Given the description of an element on the screen output the (x, y) to click on. 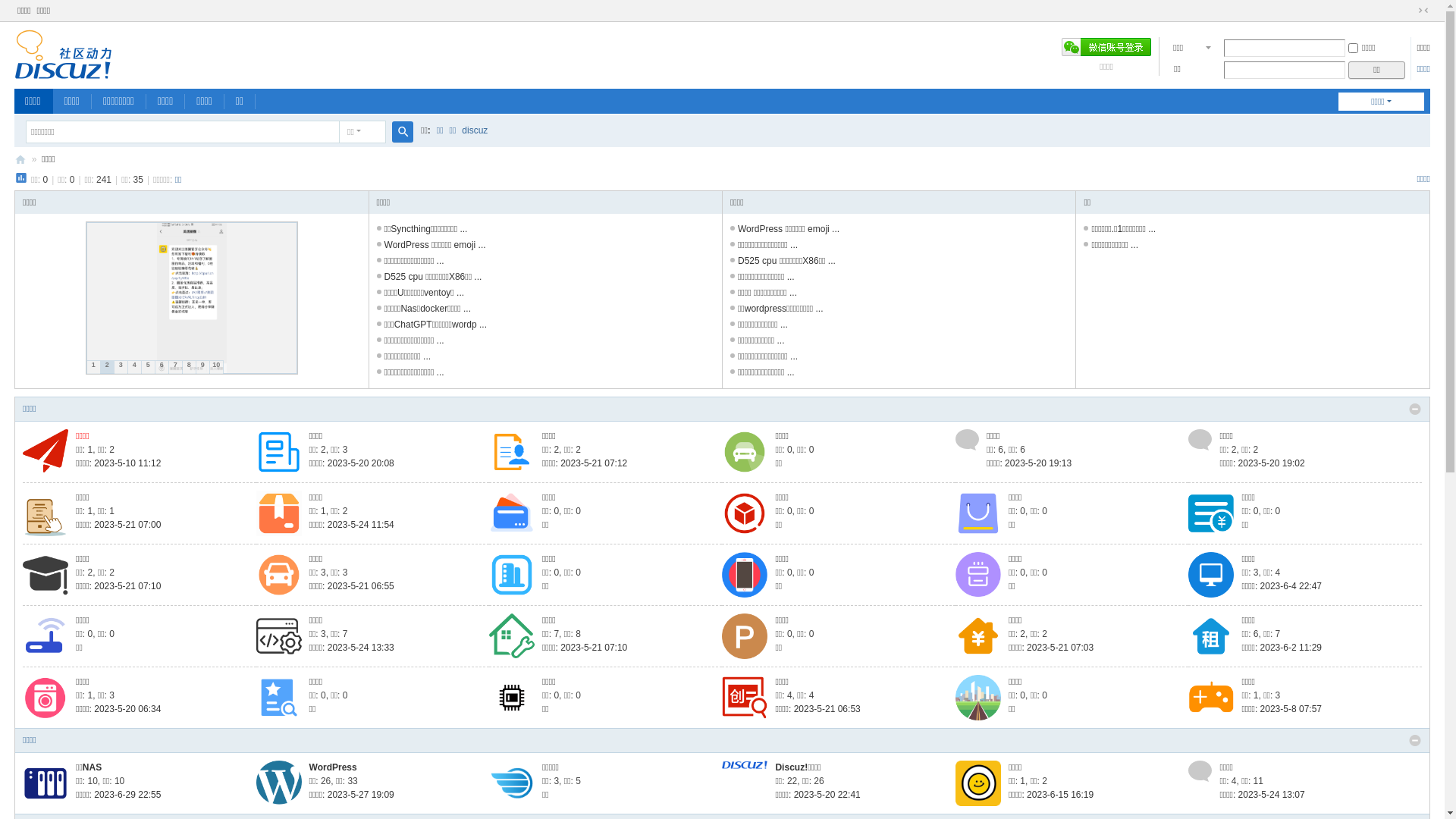
discuz Element type: text (474, 130)
true Element type: text (402, 131)
WordPress Element type: text (333, 767)
